Given the description of an element on the screen output the (x, y) to click on. 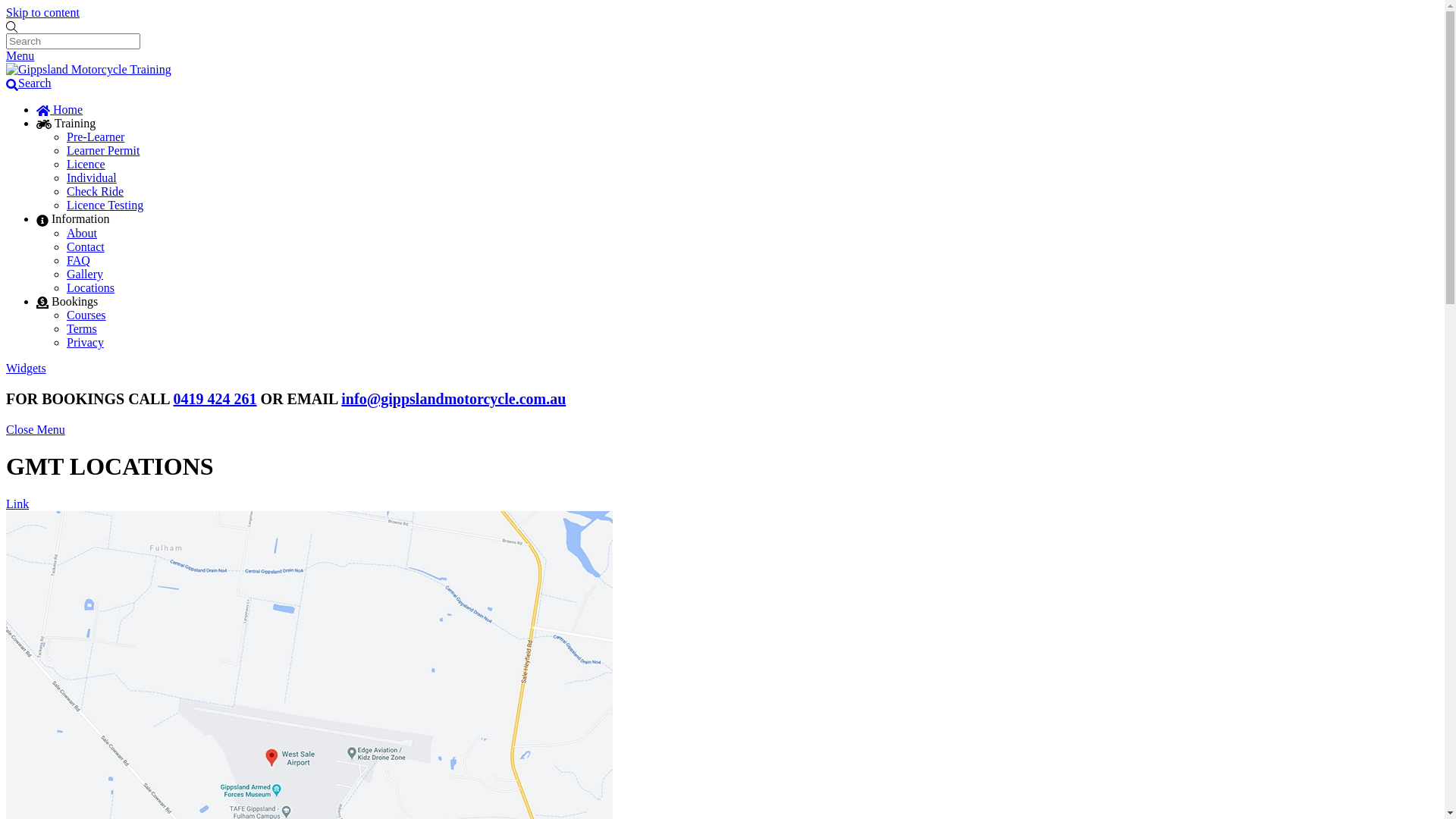
Gallery Element type: text (84, 273)
FAQ Element type: text (78, 260)
Search Element type: text (28, 82)
About Element type: text (81, 232)
Contact Element type: text (85, 246)
info@gippslandmotorcycle.com.au Element type: text (453, 398)
Bookings Element type: text (66, 300)
Licence Testing Element type: text (104, 204)
Widgets Element type: text (26, 367)
Link Element type: text (17, 503)
Privacy Element type: text (84, 341)
Locations Element type: text (90, 287)
Information Element type: text (72, 218)
Training Element type: text (65, 122)
0419 424 261 Element type: text (215, 398)
Individual Element type: text (91, 177)
Gippsland Motorcycle Training Element type: hover (88, 68)
Skip to content Element type: text (42, 12)
Search Element type: hover (73, 41)
Close Menu Element type: text (35, 429)
Learner Permit Element type: text (102, 150)
Check Ride Element type: text (94, 191)
GMT-Logo Element type: hover (88, 69)
Licence Element type: text (85, 163)
Home Element type: text (59, 109)
Courses Element type: text (86, 314)
Pre-Learner Element type: text (95, 136)
Terms Element type: text (81, 328)
Menu Element type: text (20, 55)
